Given the description of an element on the screen output the (x, y) to click on. 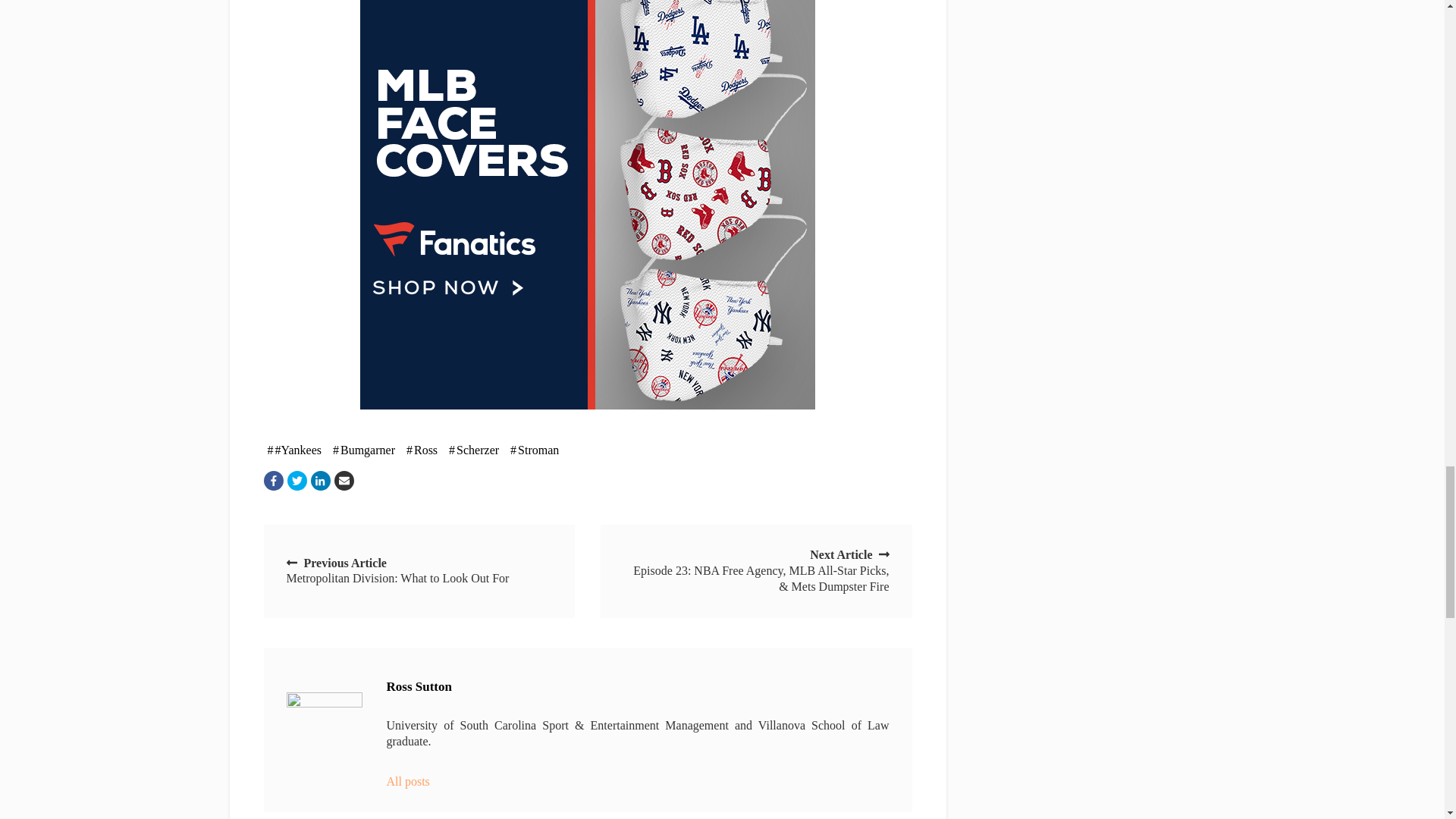
Stroman (534, 449)
Scherzer (473, 449)
Ross Sutton (324, 730)
Ross (422, 449)
Share on Twitter (295, 480)
Share on LinkedIn (320, 480)
Share on Facebook (273, 480)
Bumgarner (363, 449)
Share on email (343, 480)
